Given the description of an element on the screen output the (x, y) to click on. 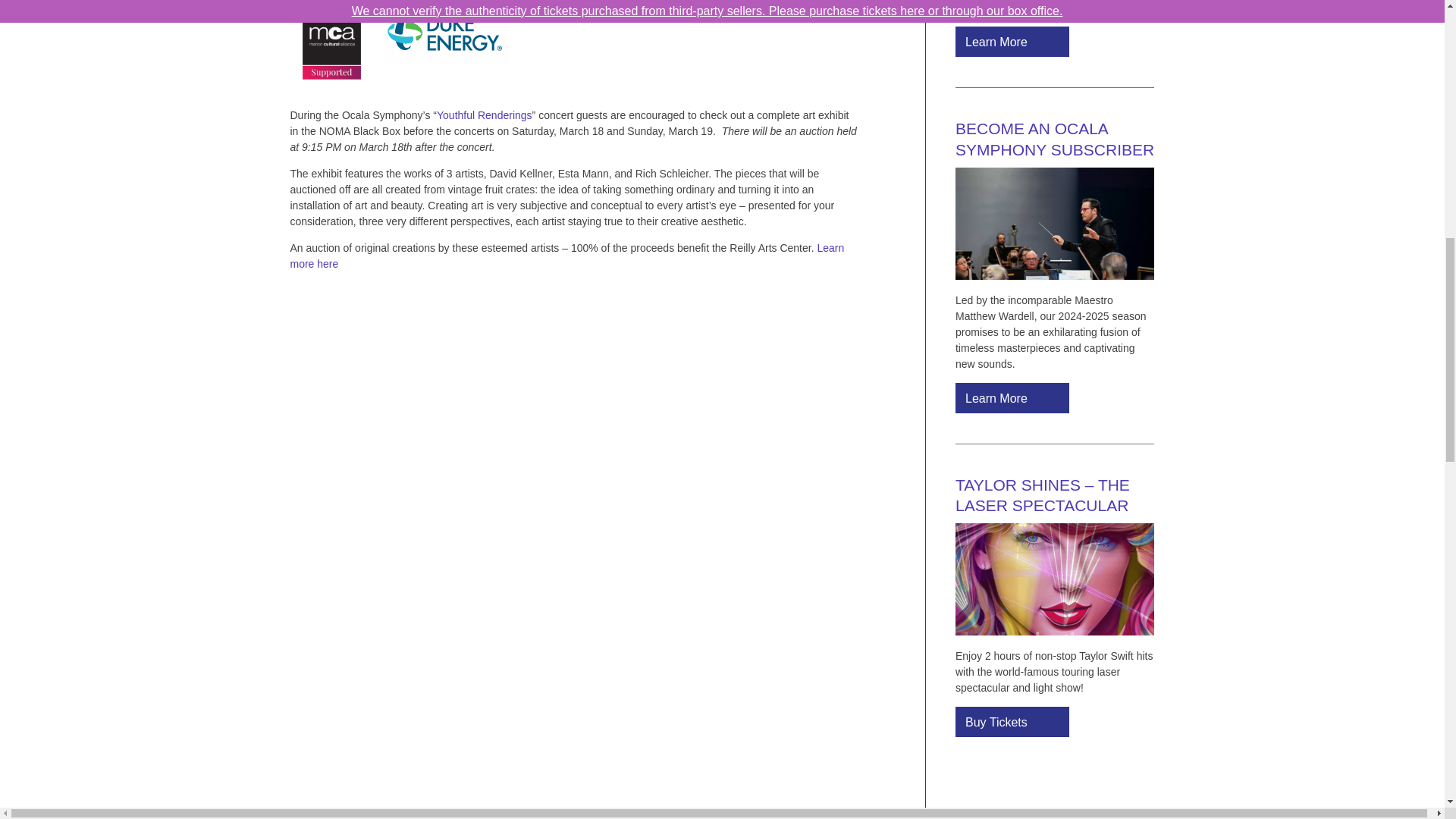
Learn more here (566, 255)
Youthful Renderings (484, 114)
